Given the description of an element on the screen output the (x, y) to click on. 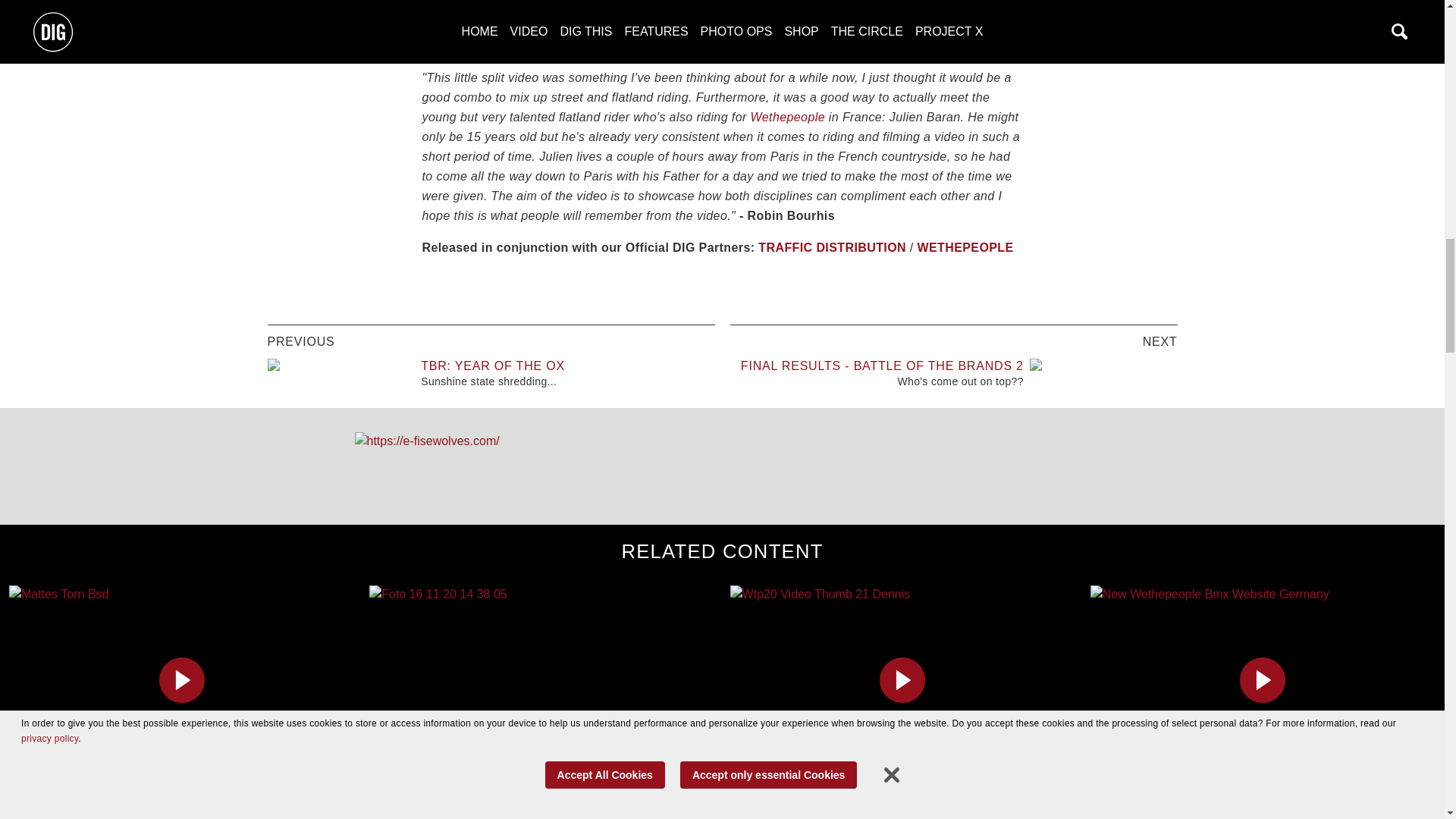
TRAFFIC DISTRIBUTION (831, 246)
Traffic BMX (964, 25)
Wethepeople (882, 25)
FINAL RESULTS - BATTLE OF THE BRANDS 2 (882, 365)
Wethepeople (788, 116)
TBR: YEAR OF THE OX (492, 365)
Wethepeople (652, 45)
WETHEPEOPLE (965, 246)
